Given the description of an element on the screen output the (x, y) to click on. 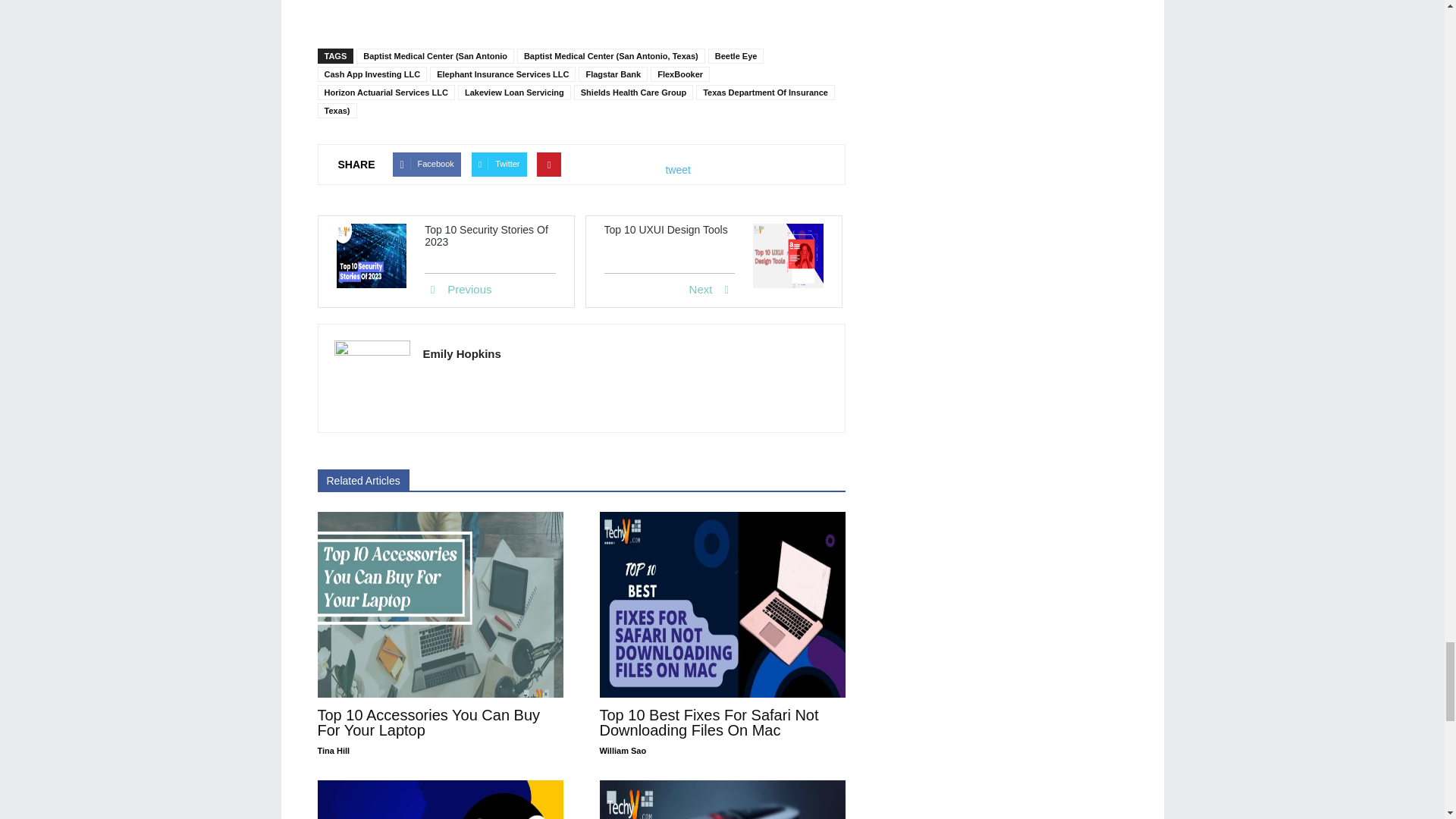
Best Practices For Building Efficient Dashboard (439, 799)
Top Ten Beard Trimmers For Men (721, 799)
Top 10 Best Fixes For Safari Not Downloading Files On Mac (721, 604)
Top 10 Best Fixes For Safari Not Downloading Files On Mac (708, 722)
Top 10 Accessories You Can Buy For Your Laptop (428, 722)
Top 10 Accessories You Can Buy For Your Laptop (439, 604)
